Given the description of an element on the screen output the (x, y) to click on. 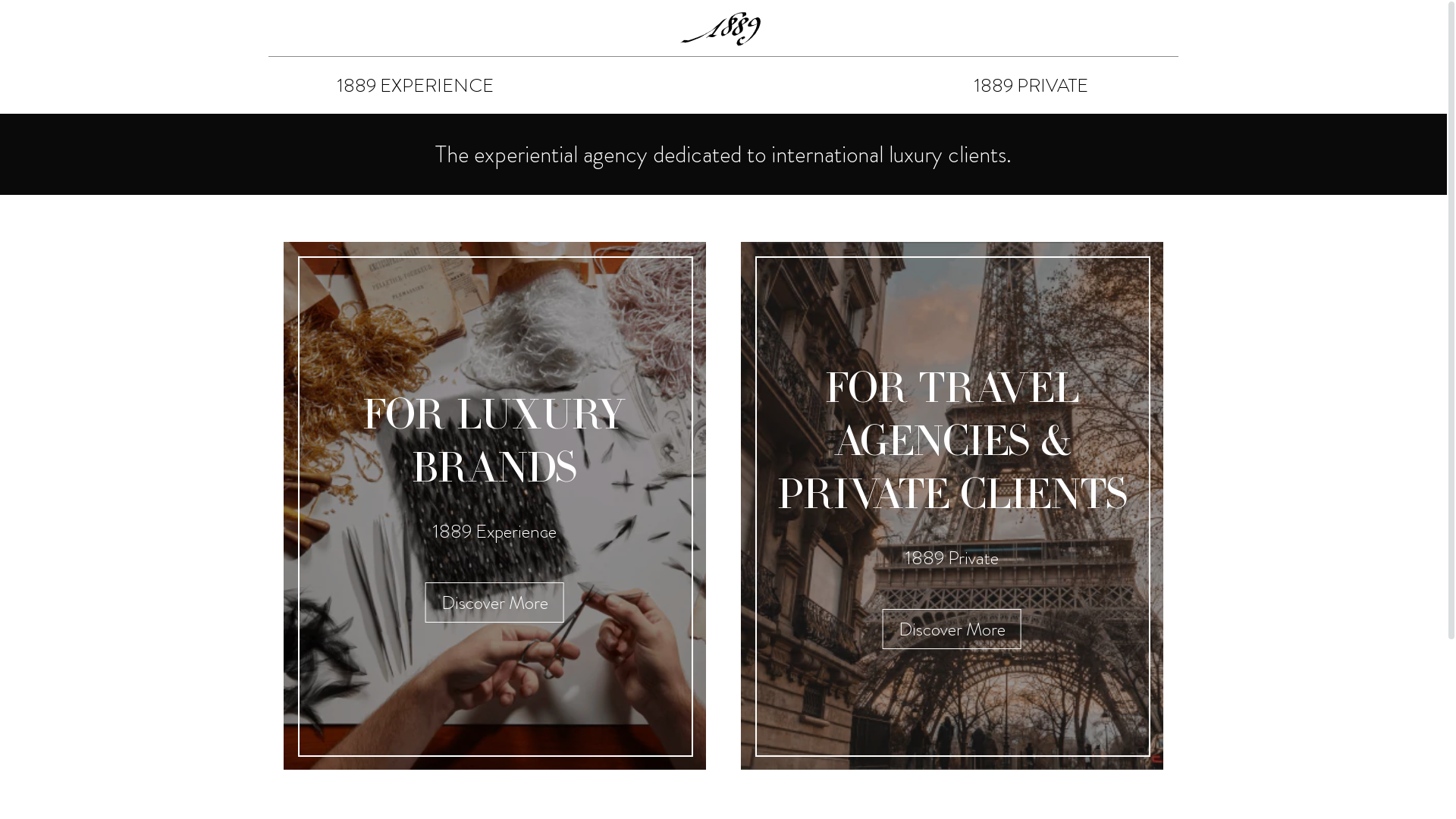
Discover More Element type: text (951, 628)
1889 EXPERIENCE Element type: text (415, 85)
FOR LUXURY BRANDS
1889 Experience
Discover More Element type: text (494, 505)
1889 Element type: hover (723, 28)
1889 PRIVATE Element type: text (1031, 85)
Discover More Element type: text (494, 602)
